Given the description of an element on the screen output the (x, y) to click on. 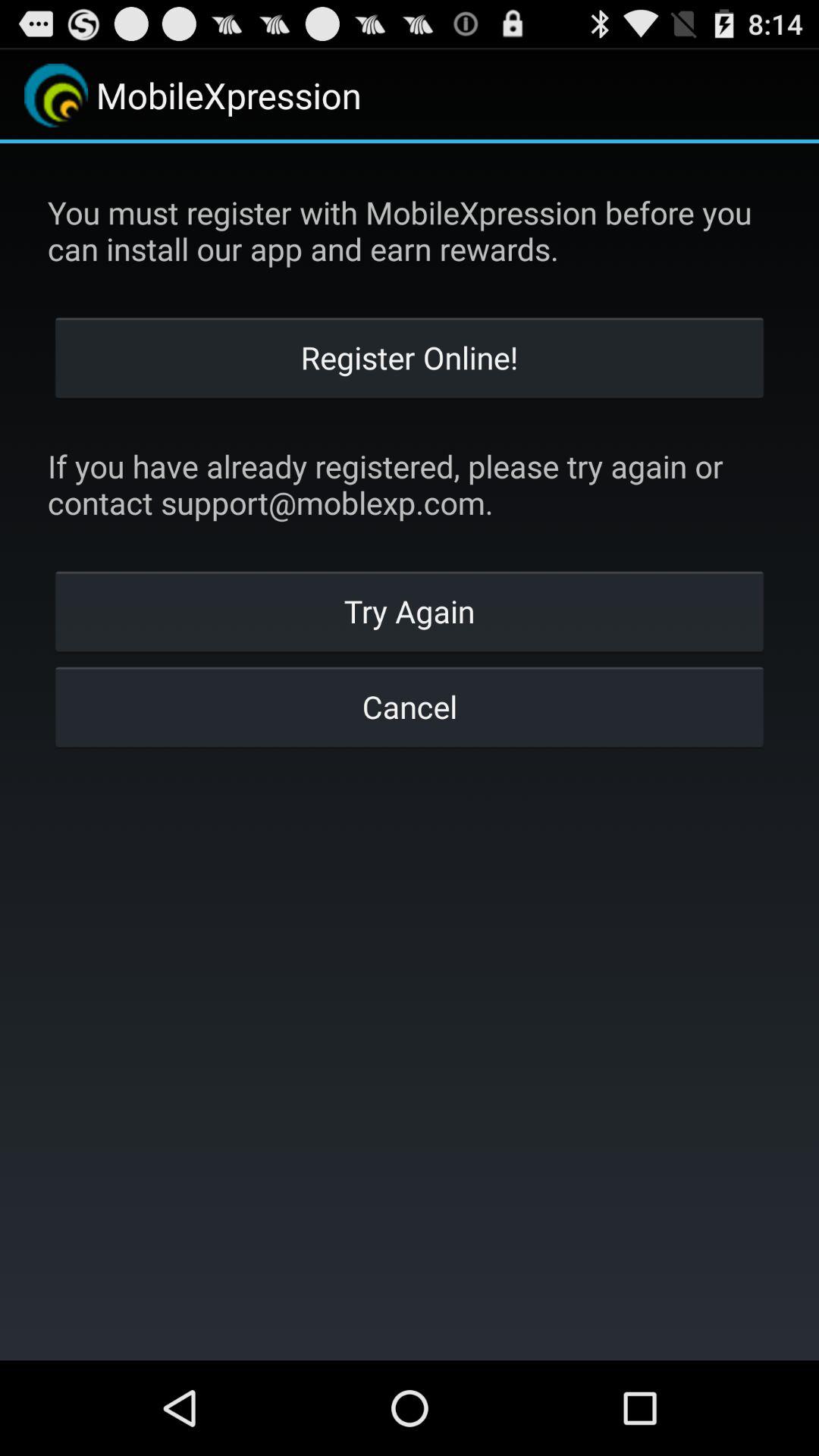
select cancel item (409, 706)
